Given the description of an element on the screen output the (x, y) to click on. 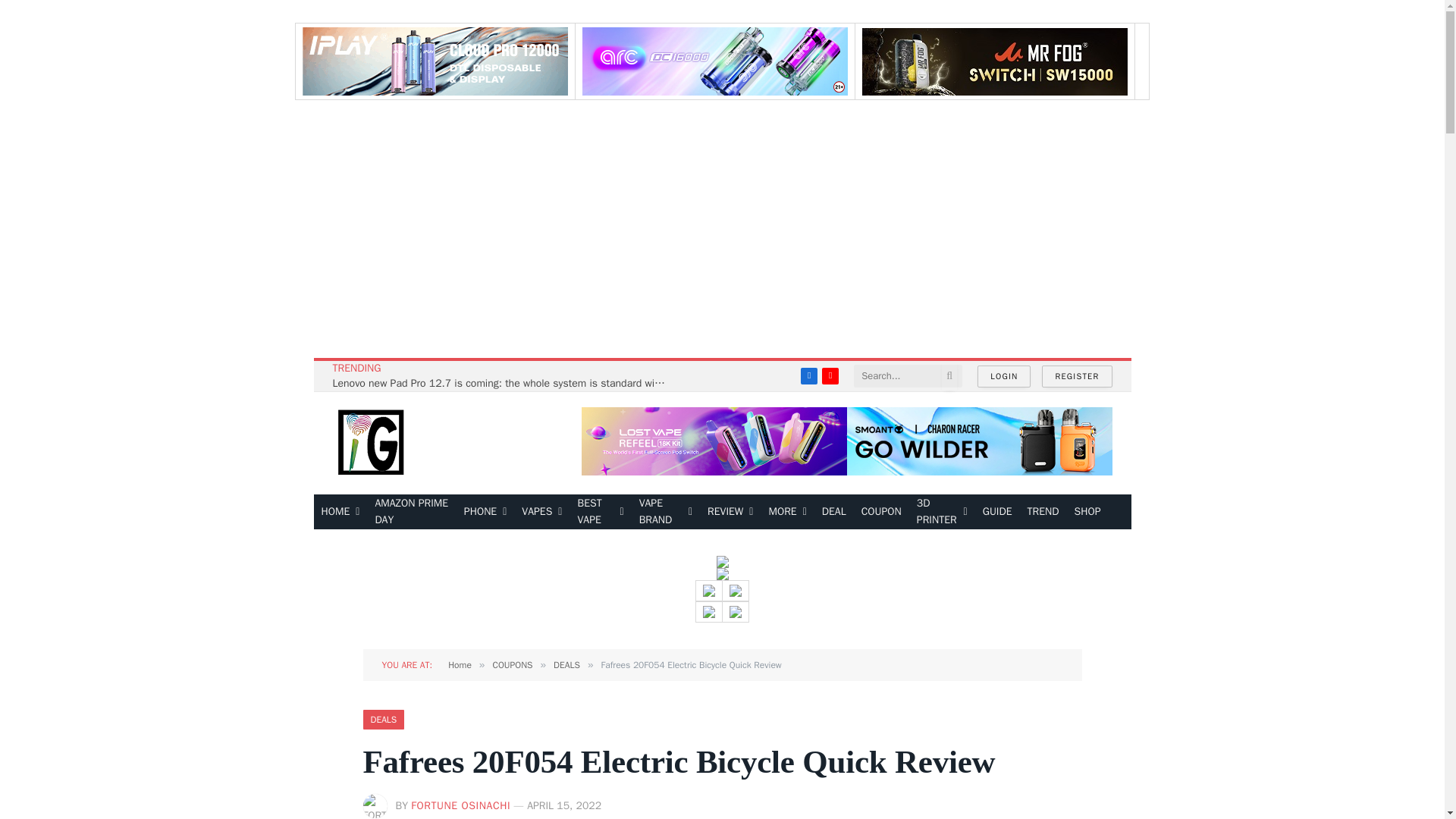
HOME (341, 511)
Posts by Fortune Osinachi (460, 805)
YouTube (830, 375)
PHONE (485, 511)
LOGIN (1003, 376)
REGISTER (1077, 376)
Facebook (808, 375)
AMAZON PRIME DAY (410, 511)
